Given the description of an element on the screen output the (x, y) to click on. 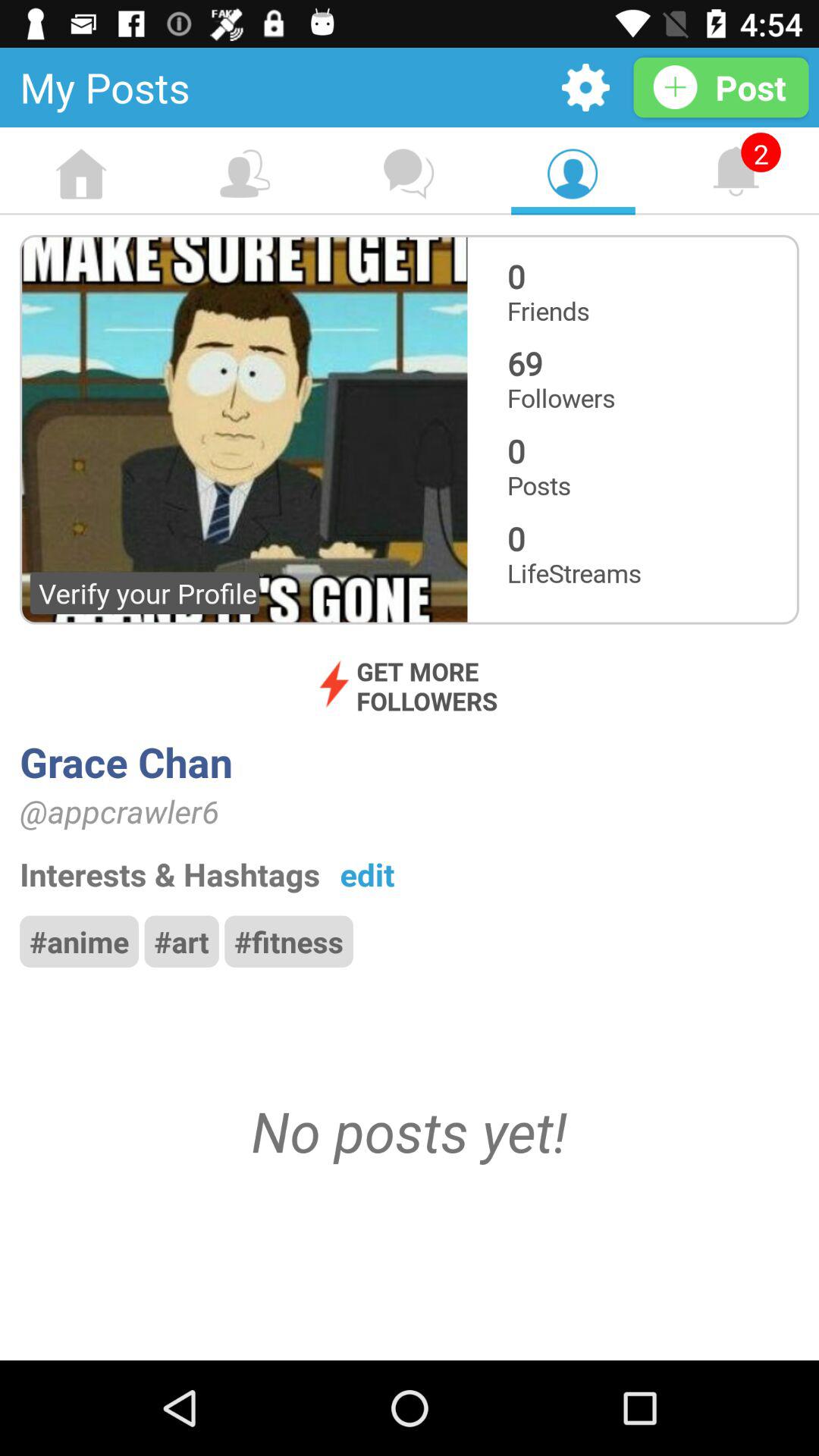
press app next to #anime (181, 941)
